Given the description of an element on the screen output the (x, y) to click on. 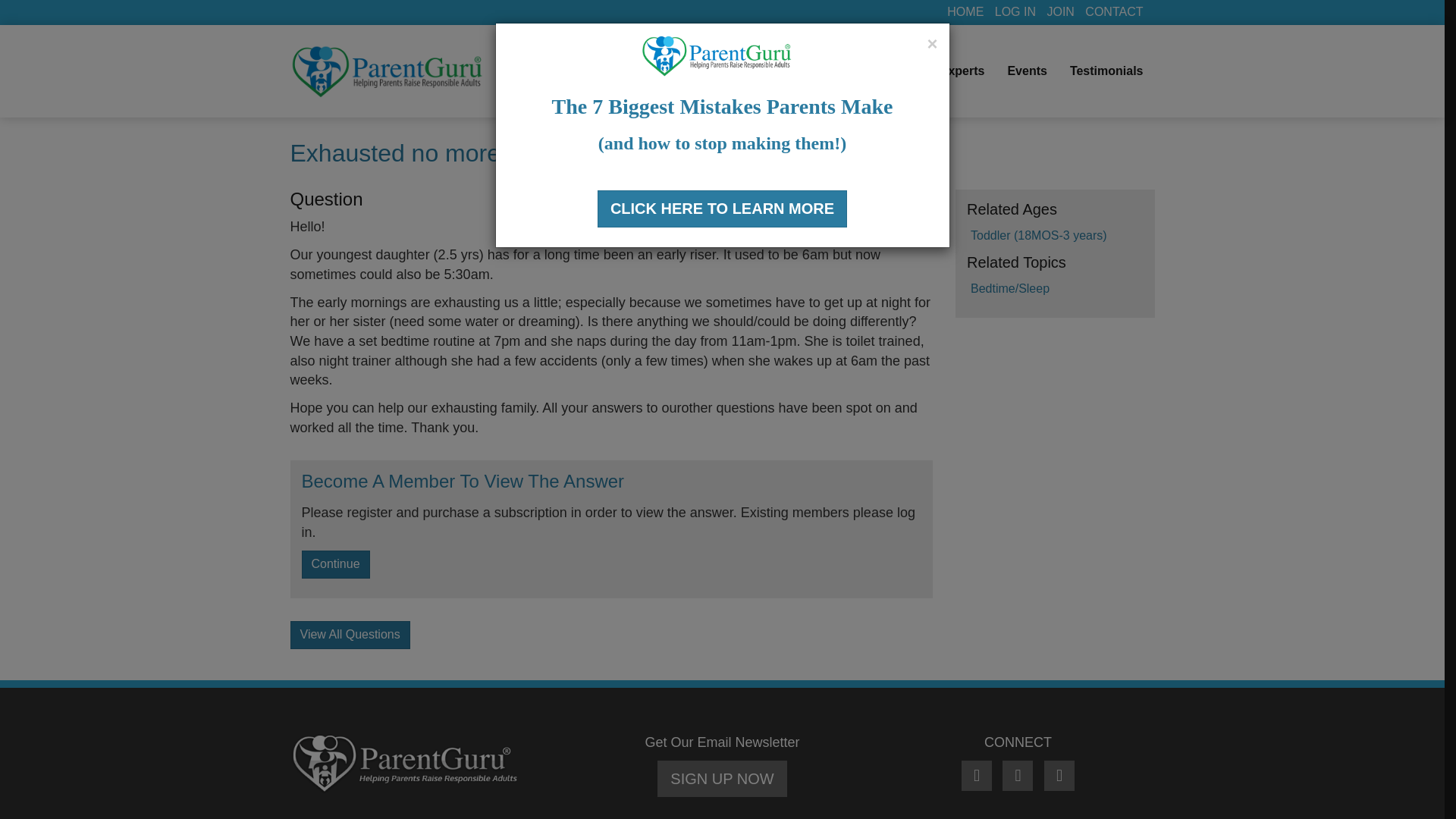
CONTACT (1113, 11)
HOME (965, 11)
Bookstore (862, 70)
LOG IN (1014, 11)
Facebook (978, 776)
Testimonials (1106, 70)
CLICK HERE TO LEARN MORE (721, 208)
Our Experts (949, 70)
Instagram (1059, 776)
View All Questions (349, 634)
Ask a Question (765, 70)
Browse (628, 70)
Twitter (1018, 776)
Continue (335, 564)
Events (1026, 70)
